Given the description of an element on the screen output the (x, y) to click on. 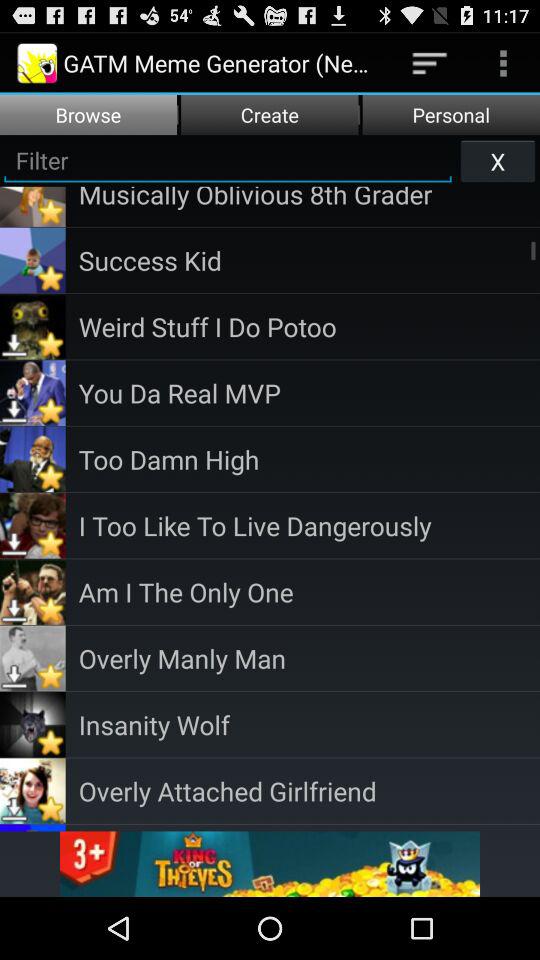
tap musically oblivious 8th item (309, 198)
